Given the description of an element on the screen output the (x, y) to click on. 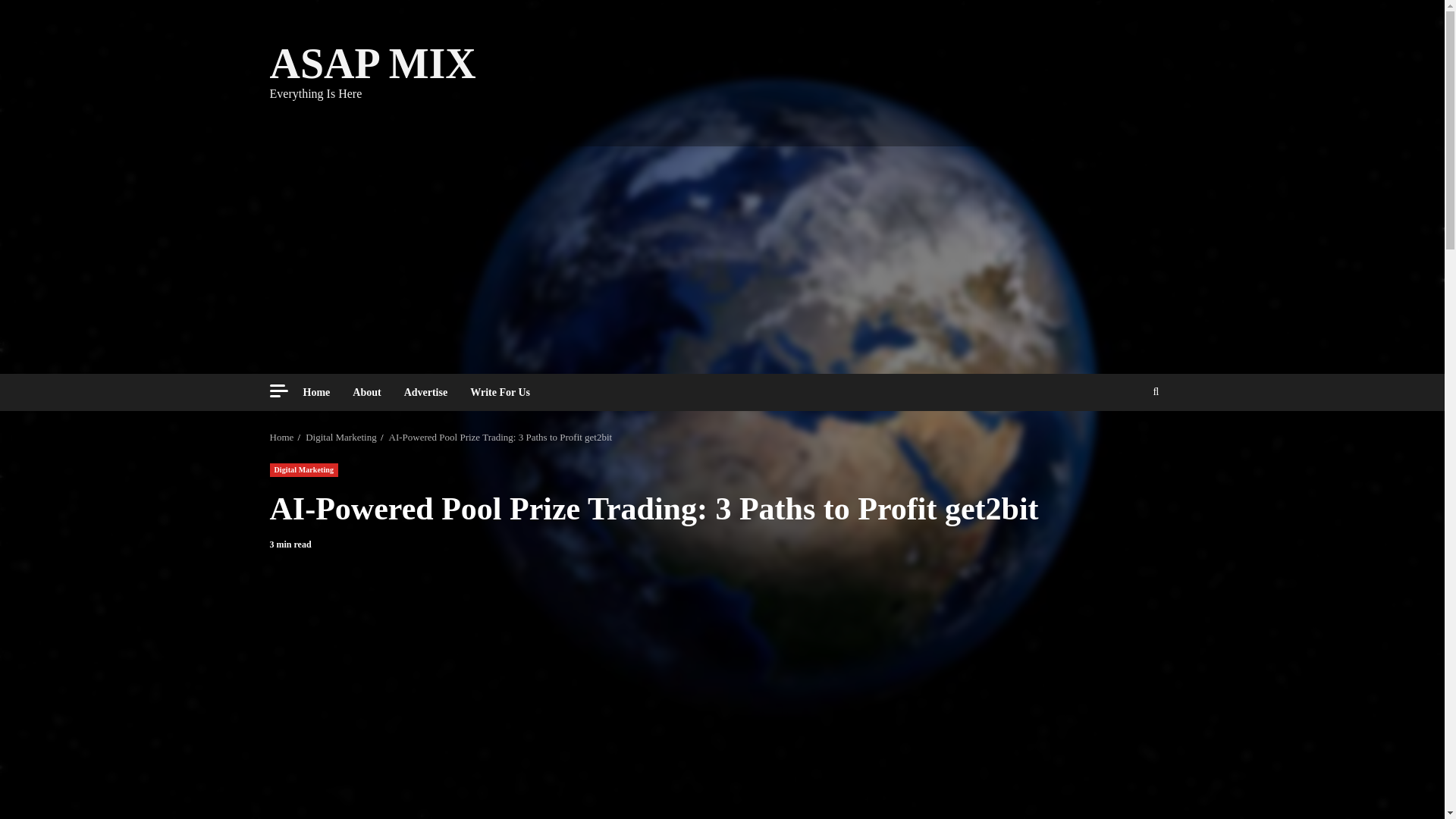
AI-Powered Pool Prize Trading: 3 Paths to Profit get2bit (500, 437)
Search (1155, 391)
Digital Marketing (304, 469)
Digital Marketing (341, 437)
Home (281, 437)
ASAP MIX (372, 63)
Advertise (426, 392)
About (365, 392)
Write For Us (493, 392)
Search (1128, 438)
Home (322, 392)
